Given the description of an element on the screen output the (x, y) to click on. 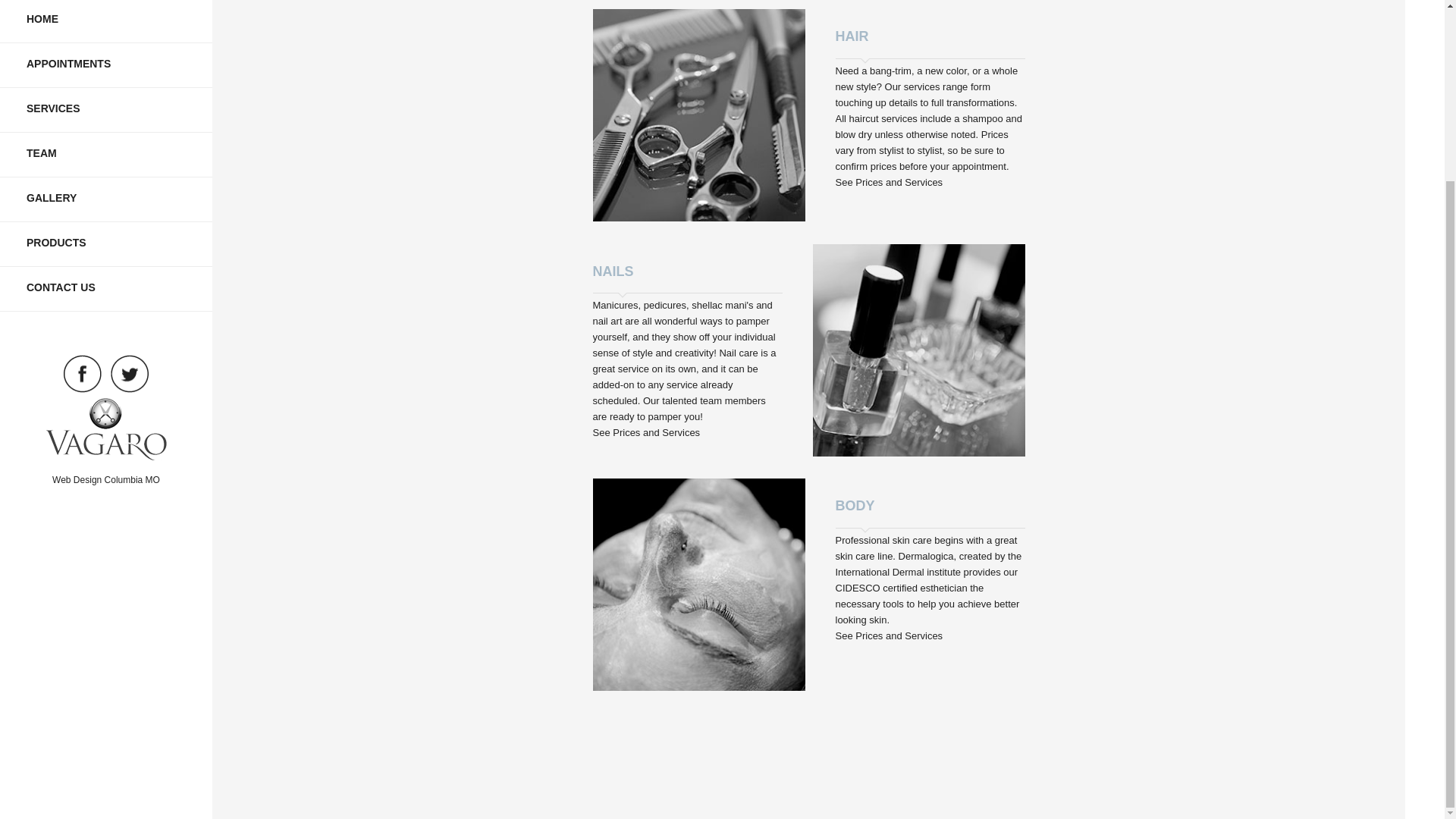
Visit ourtwitterAccount (129, 373)
See Prices and Services (889, 182)
BODY (930, 503)
Hair (889, 182)
HOME (106, 21)
GALLERY (106, 199)
Visit ourdribbbleAccount (105, 429)
Web Design Columbia MO (106, 480)
Web Design Columbia MO (106, 480)
CONTACT US (106, 289)
